Given the description of an element on the screen output the (x, y) to click on. 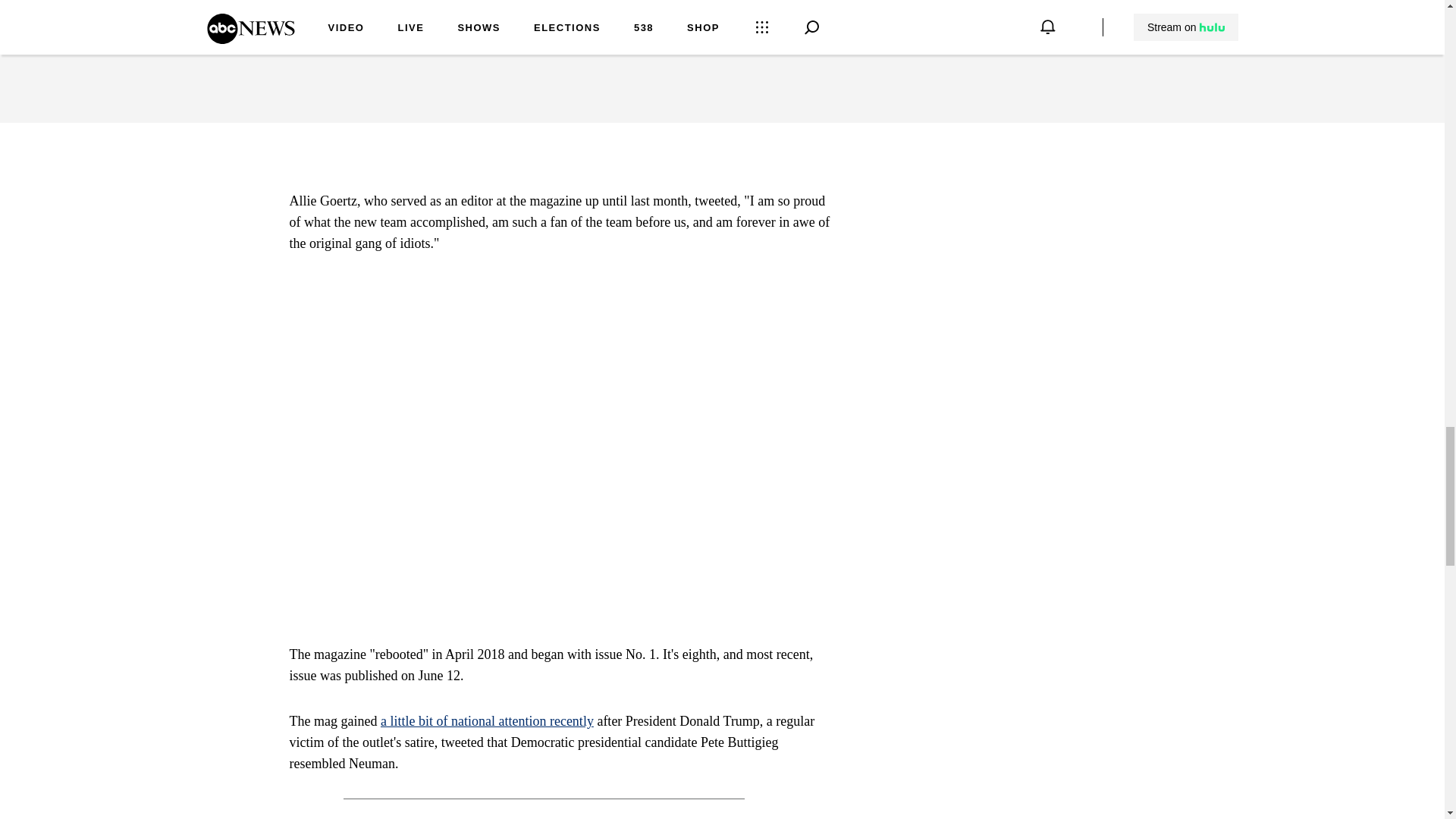
a little bit of national attention recently (487, 720)
